Given the description of an element on the screen output the (x, y) to click on. 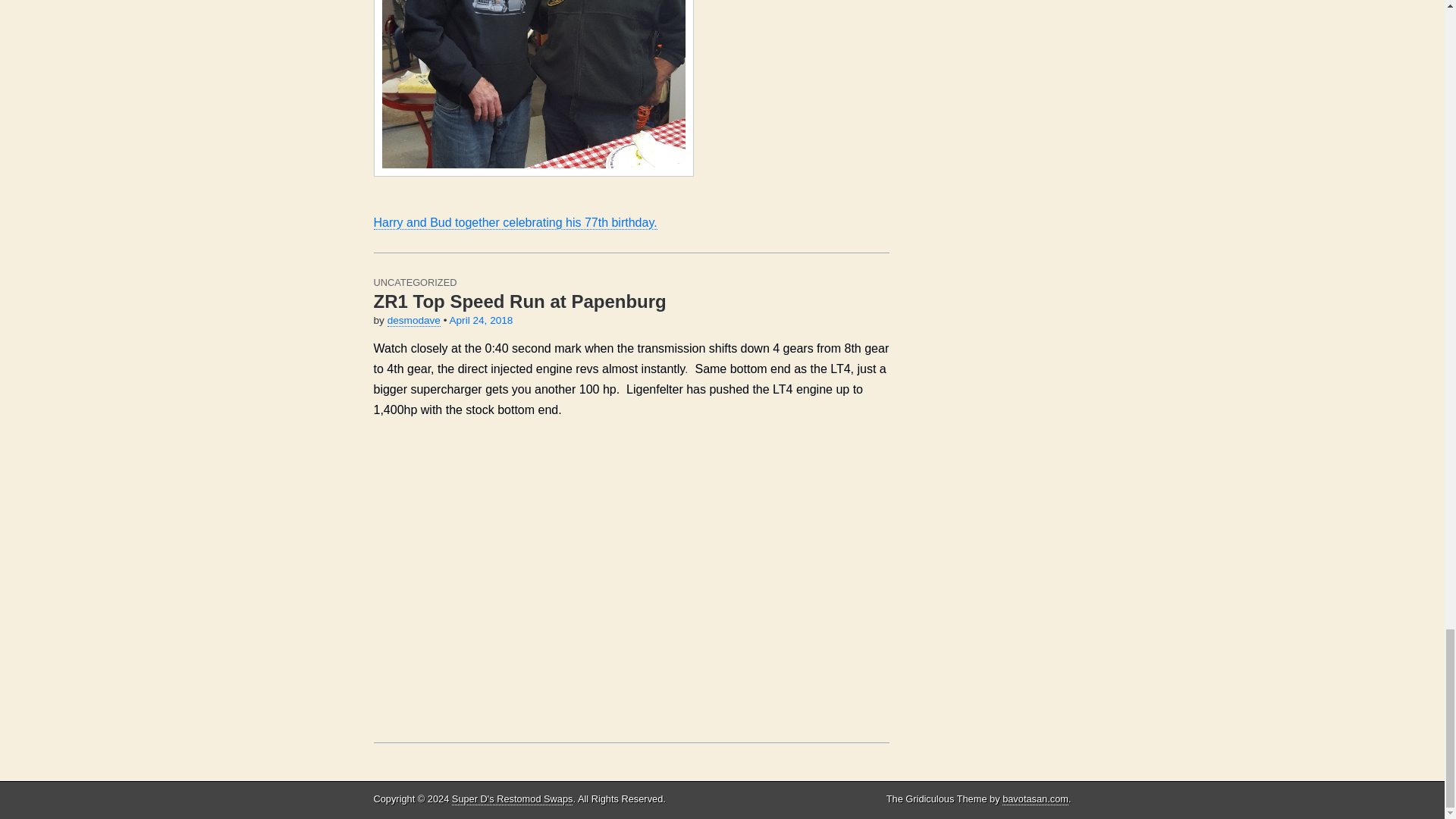
April 24, 2018 (480, 319)
UNCATEGORIZED (414, 282)
ZR1 Top Speed Run at Papenburg (518, 301)
desmodave (414, 320)
Harry and Bud together celebrating his 77th birthday. (630, 114)
Posts by desmodave (414, 320)
